Given the description of an element on the screen output the (x, y) to click on. 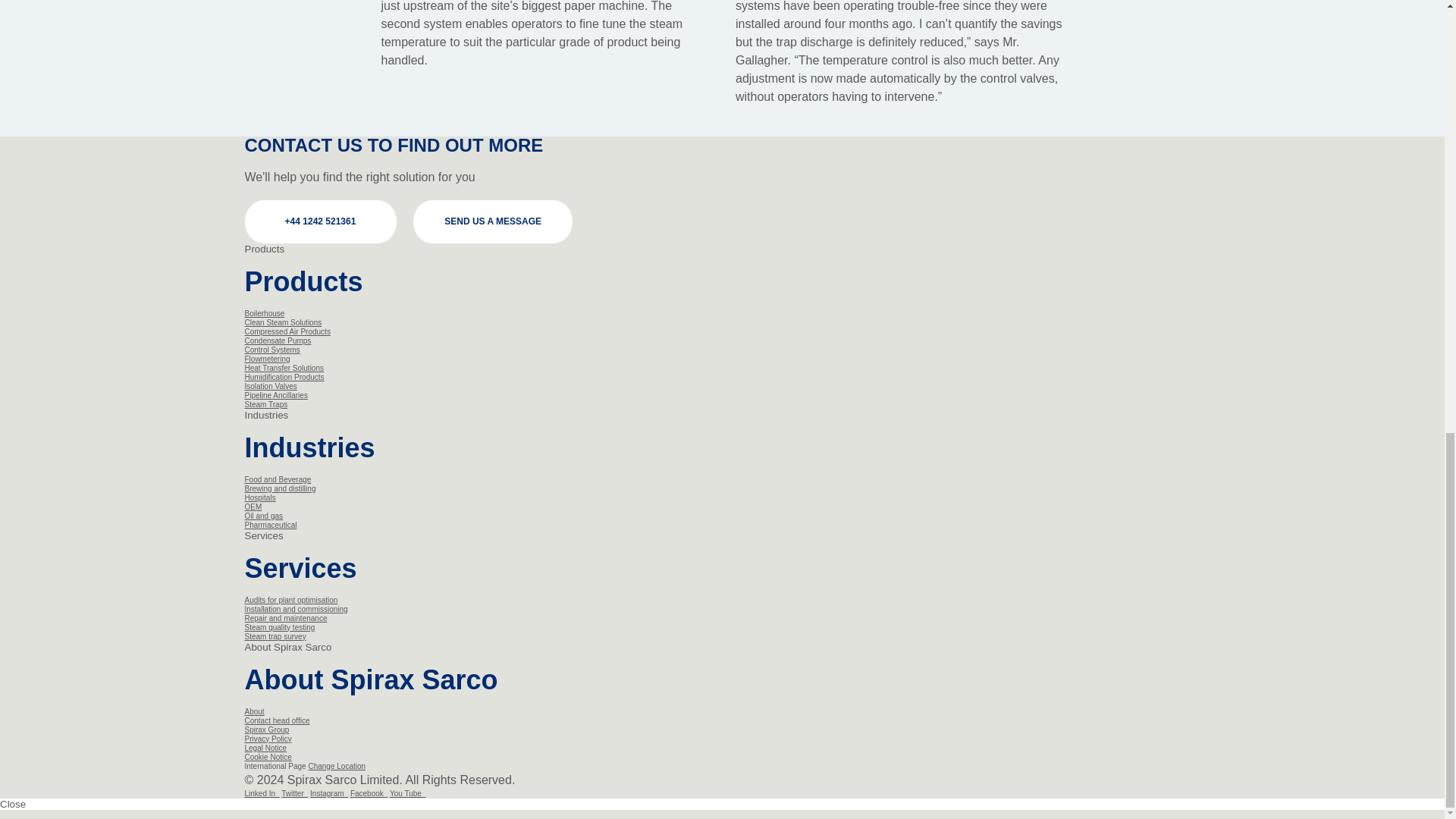
OEM (253, 506)
SEND US A MESSAGE (492, 220)
Brewing and distilling (279, 488)
Food and Beverage (277, 479)
Flowmetering (266, 358)
Humidification Products (283, 377)
Products (263, 248)
Services (263, 535)
Pharmaceutical (270, 524)
Heat Transfer Solutions (283, 367)
